Given the description of an element on the screen output the (x, y) to click on. 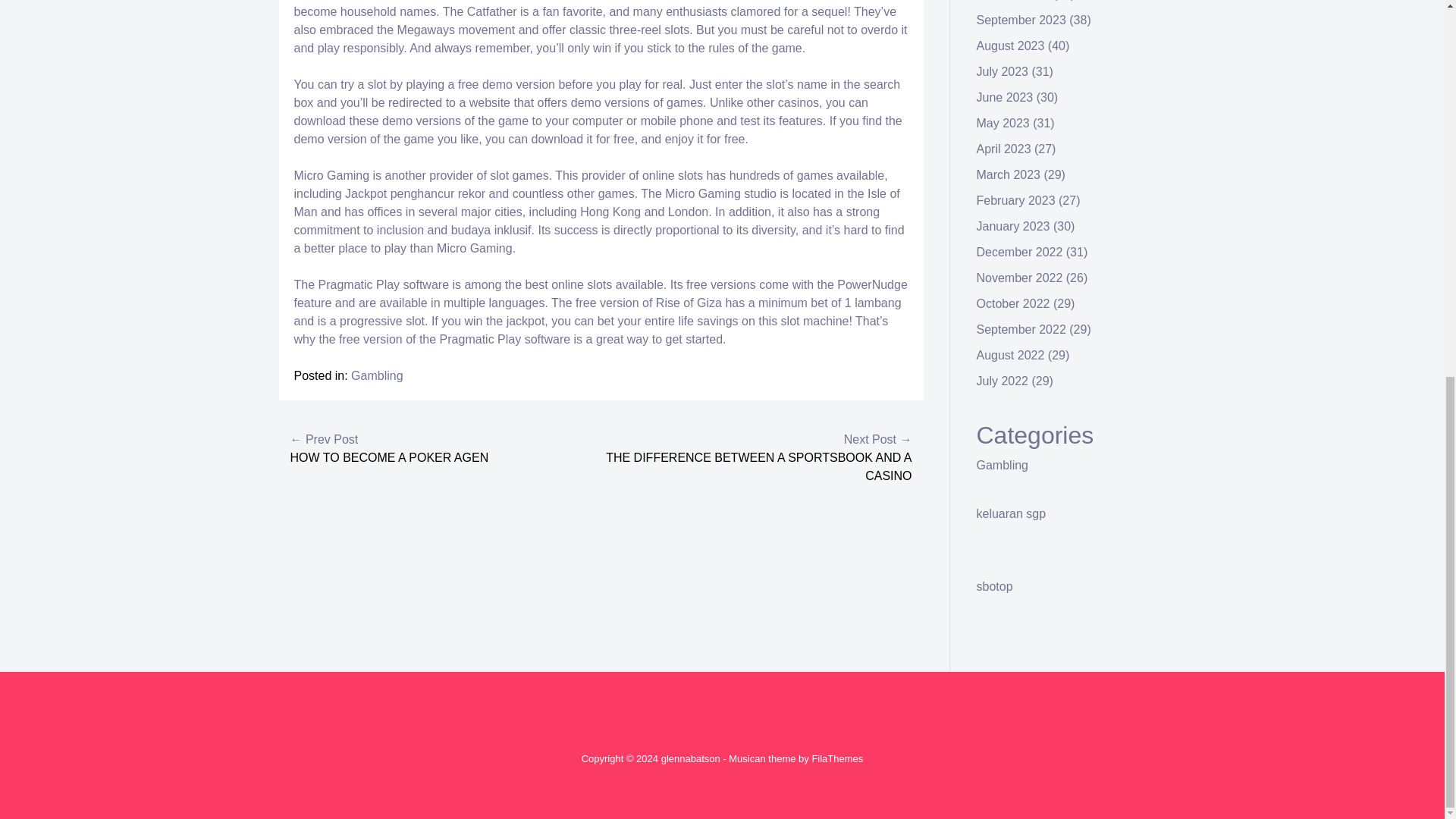
May 2023 (1002, 123)
November 2022 (1019, 277)
Gambling (376, 375)
glennabatson (690, 758)
October 2023 (1012, 0)
August 2022 (1010, 354)
October 2022 (1012, 303)
June 2023 (1004, 97)
April 2023 (1003, 148)
Gambling (1001, 464)
July 2022 (1002, 380)
December 2022 (1019, 251)
January 2023 (1012, 226)
August 2023 (1010, 45)
February 2023 (1015, 200)
